Given the description of an element on the screen output the (x, y) to click on. 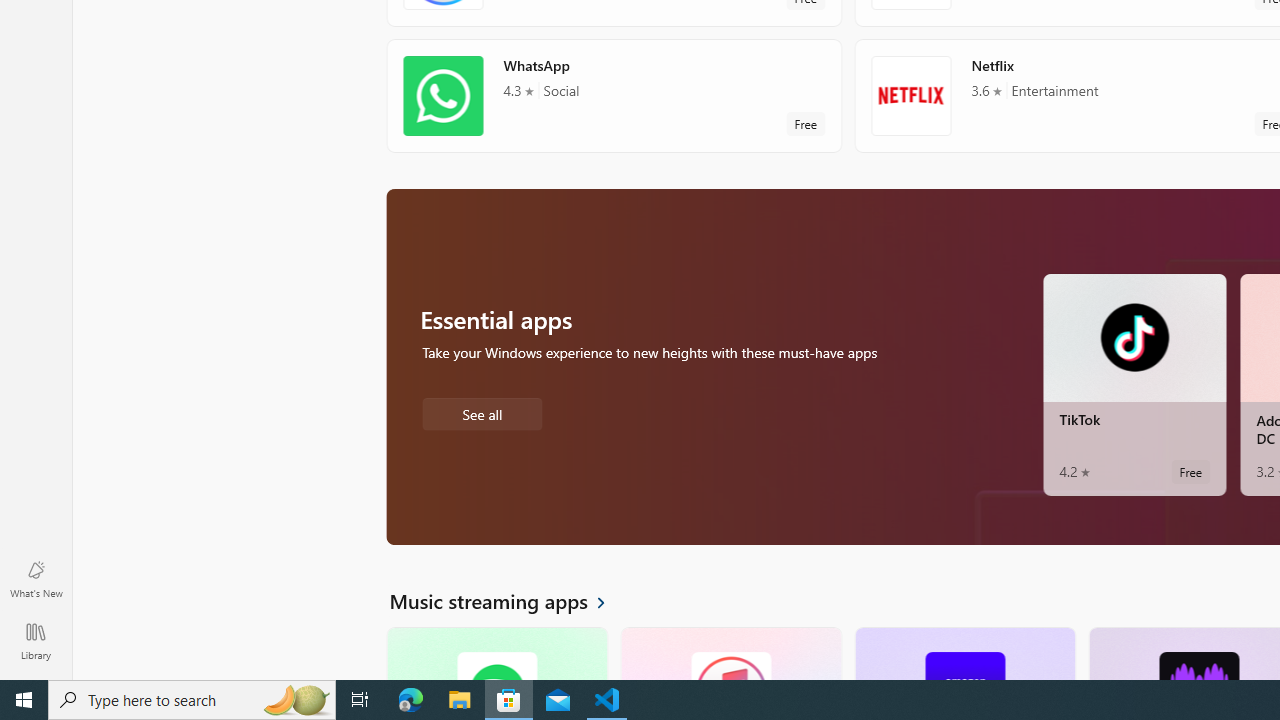
See all  Essential apps (481, 412)
What's New (35, 578)
Library (35, 640)
WhatsApp. Average rating of 4.3 out of five stars. Free   (614, 95)
TikTok. Average rating of 4.2 out of five stars. Free   (1134, 384)
iTunes. Average rating of 2.5 out of five stars. Free   (730, 653)
See all  Music streaming apps (509, 600)
